Given the description of an element on the screen output the (x, y) to click on. 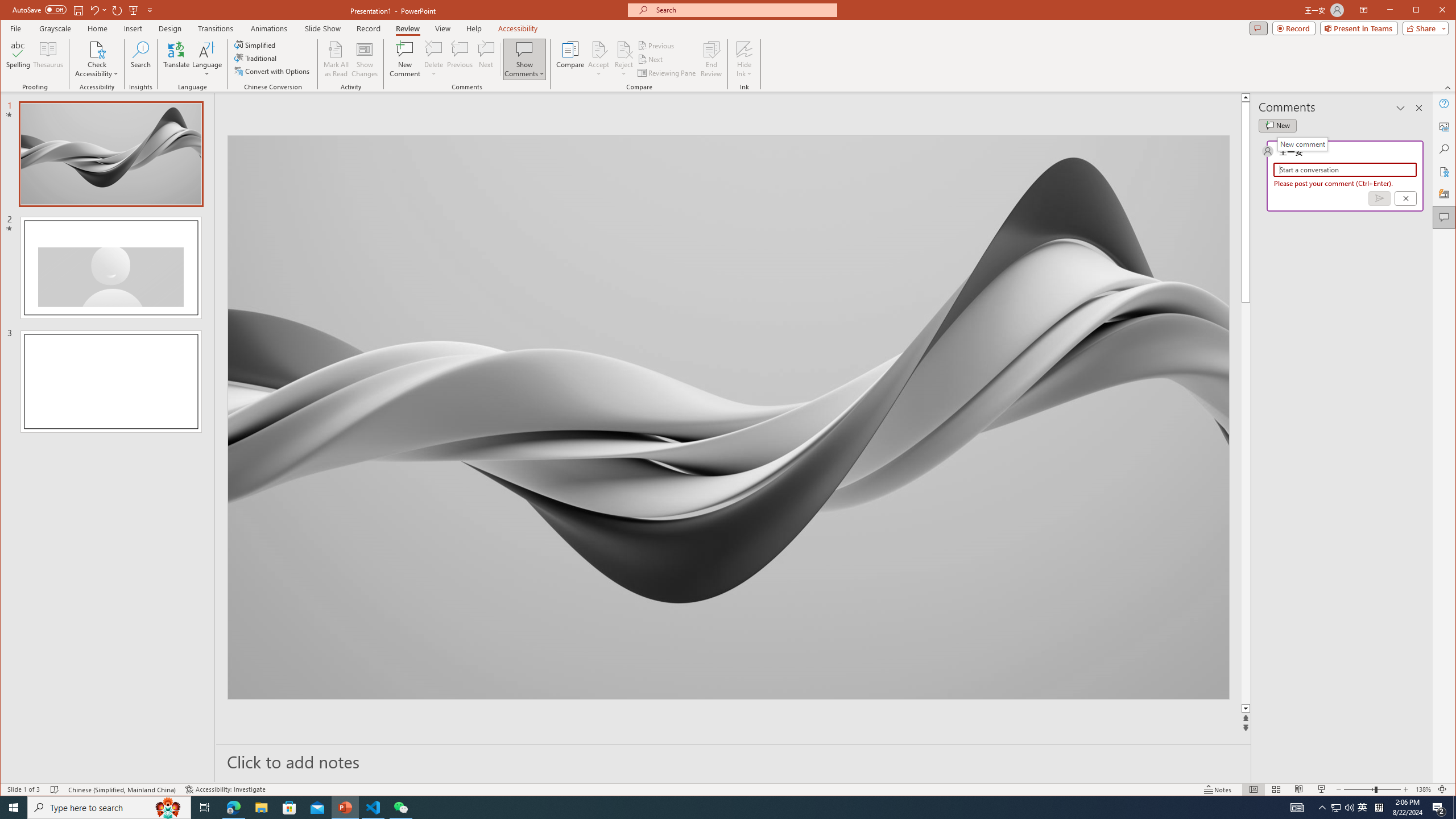
Normal (1253, 789)
Minimize (1419, 11)
Action Center, 2 new notifications (1439, 807)
Animations (269, 28)
Quick Access Toolbar (83, 9)
End Review (710, 59)
Slide Sorter (1276, 789)
New Comment (405, 59)
Accept Change (598, 48)
File Explorer (261, 807)
Comments (1258, 28)
Search highlights icon opens search home window (167, 807)
Language (207, 59)
